Given the description of an element on the screen output the (x, y) to click on. 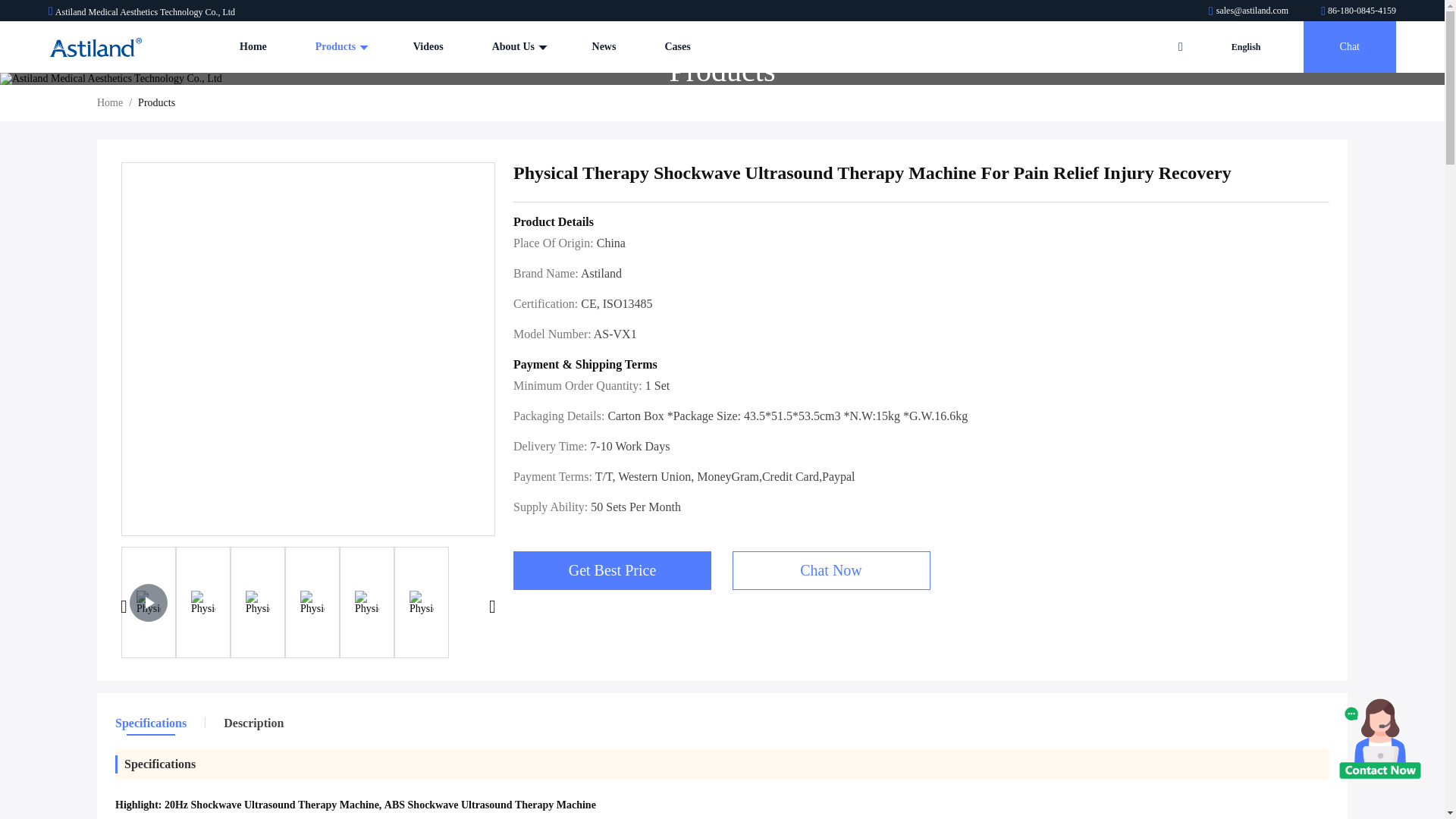
Products (340, 46)
Astiland Medical Aesthetics Technology Co., Ltd (1249, 9)
Astiland Medical Aesthetics Technology Co., Ltd (96, 46)
86-180-0845-4159 (1358, 9)
Astiland Medical Aesthetics Technology Co., Ltd (1358, 9)
About Us (517, 46)
Products (340, 46)
